Given the description of an element on the screen output the (x, y) to click on. 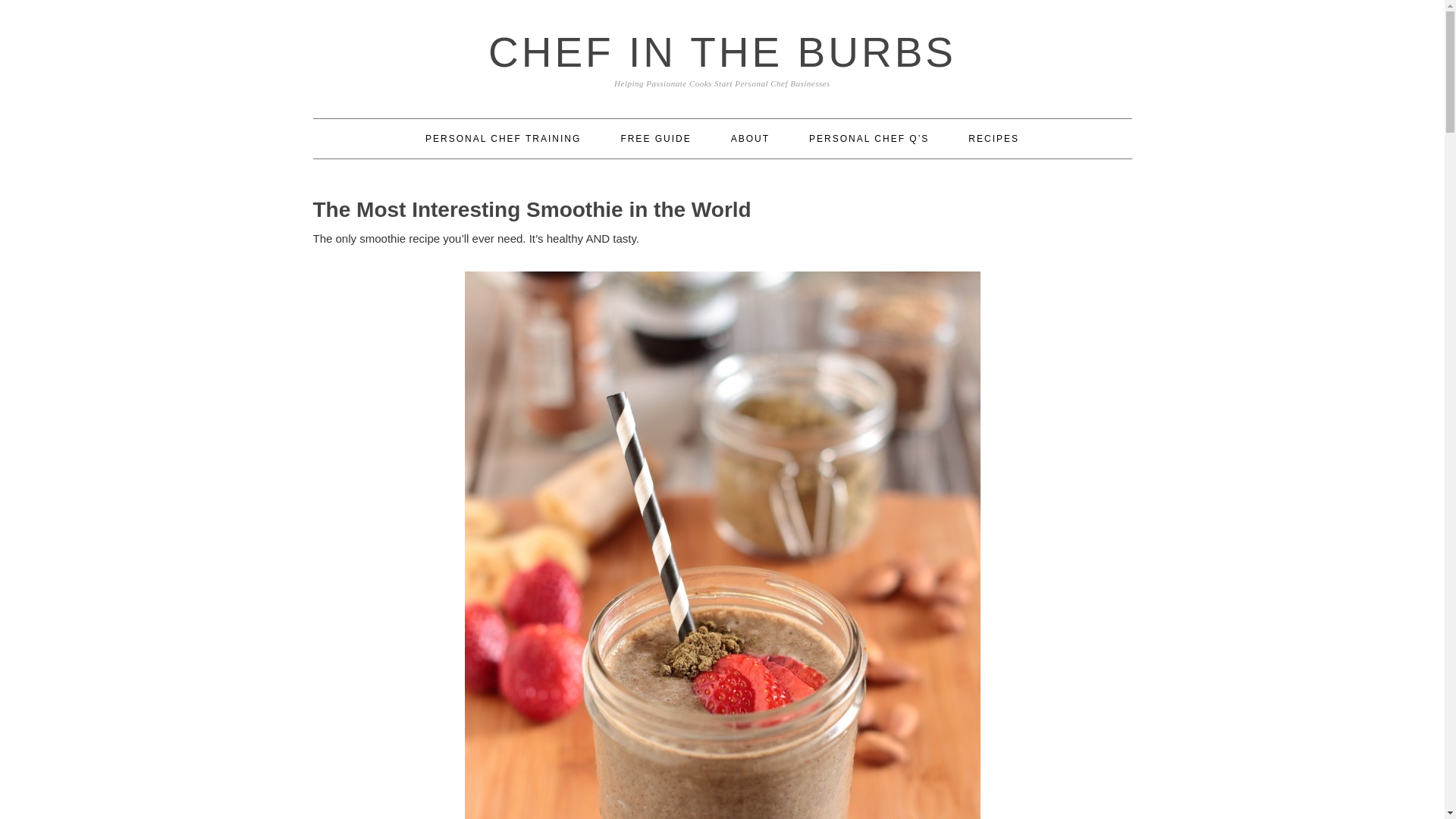
CHEF IN THE BURBS (721, 52)
ABOUT (750, 138)
PERSONAL CHEF TRAINING (502, 138)
RECIPES (993, 138)
FREE GUIDE (655, 138)
